Given the description of an element on the screen output the (x, y) to click on. 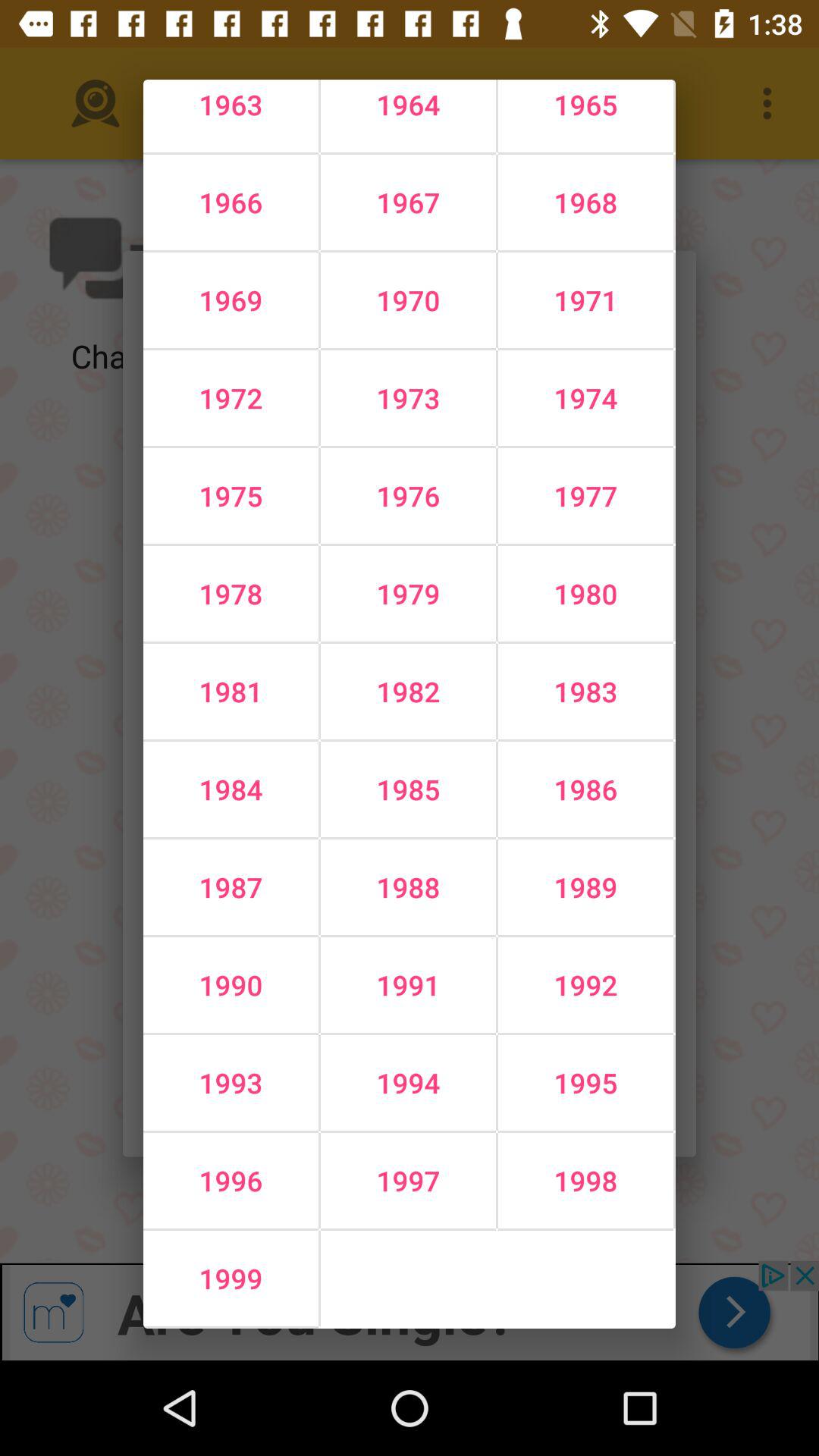
tap item next to 1975 item (407, 593)
